Given the description of an element on the screen output the (x, y) to click on. 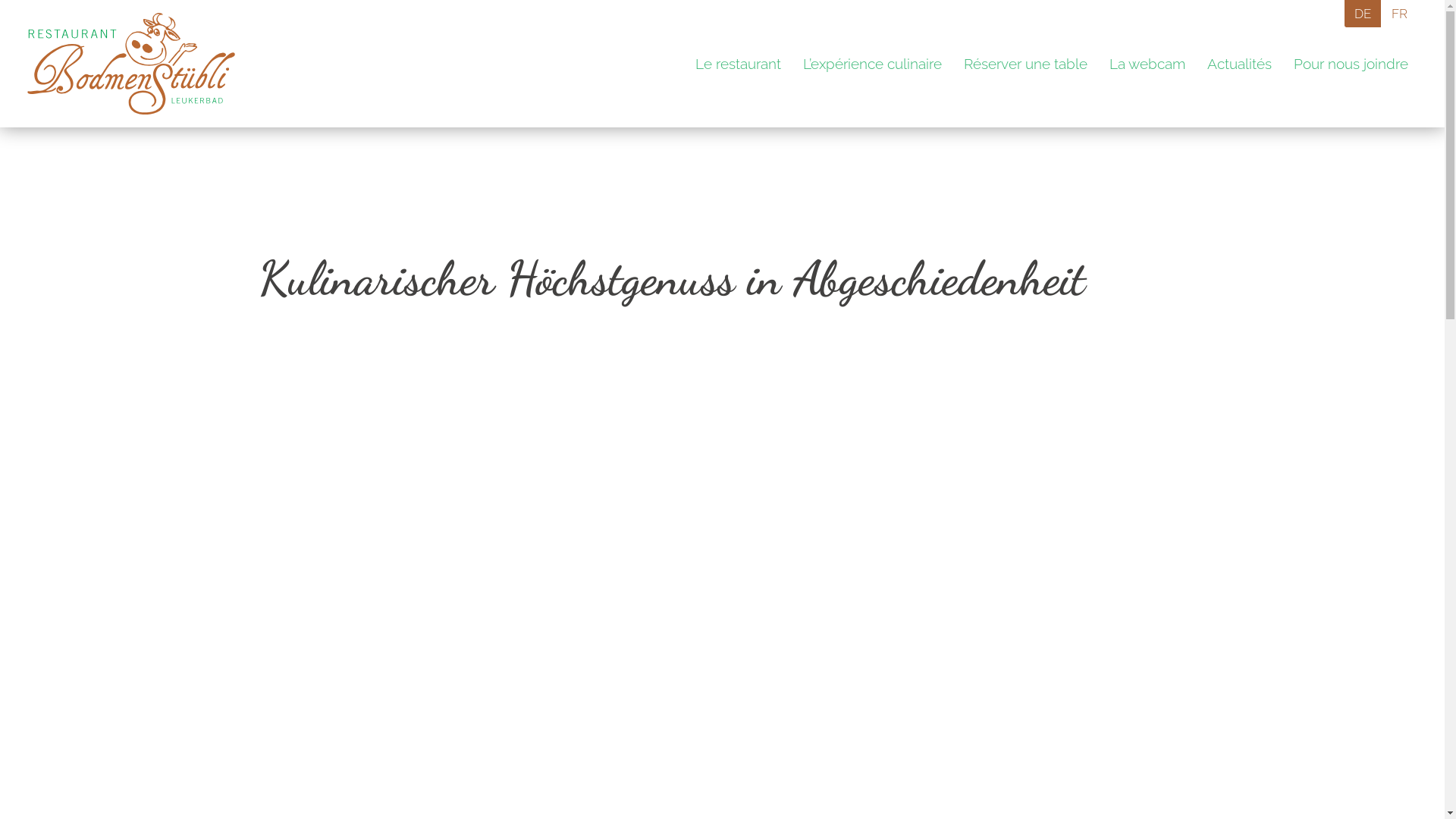
La webcam Element type: text (1147, 63)
Le restaurant Element type: text (738, 63)
FR Element type: text (1398, 13)
Pour nous joindre Element type: text (1350, 63)
DE Element type: text (1362, 13)
